Given the description of an element on the screen output the (x, y) to click on. 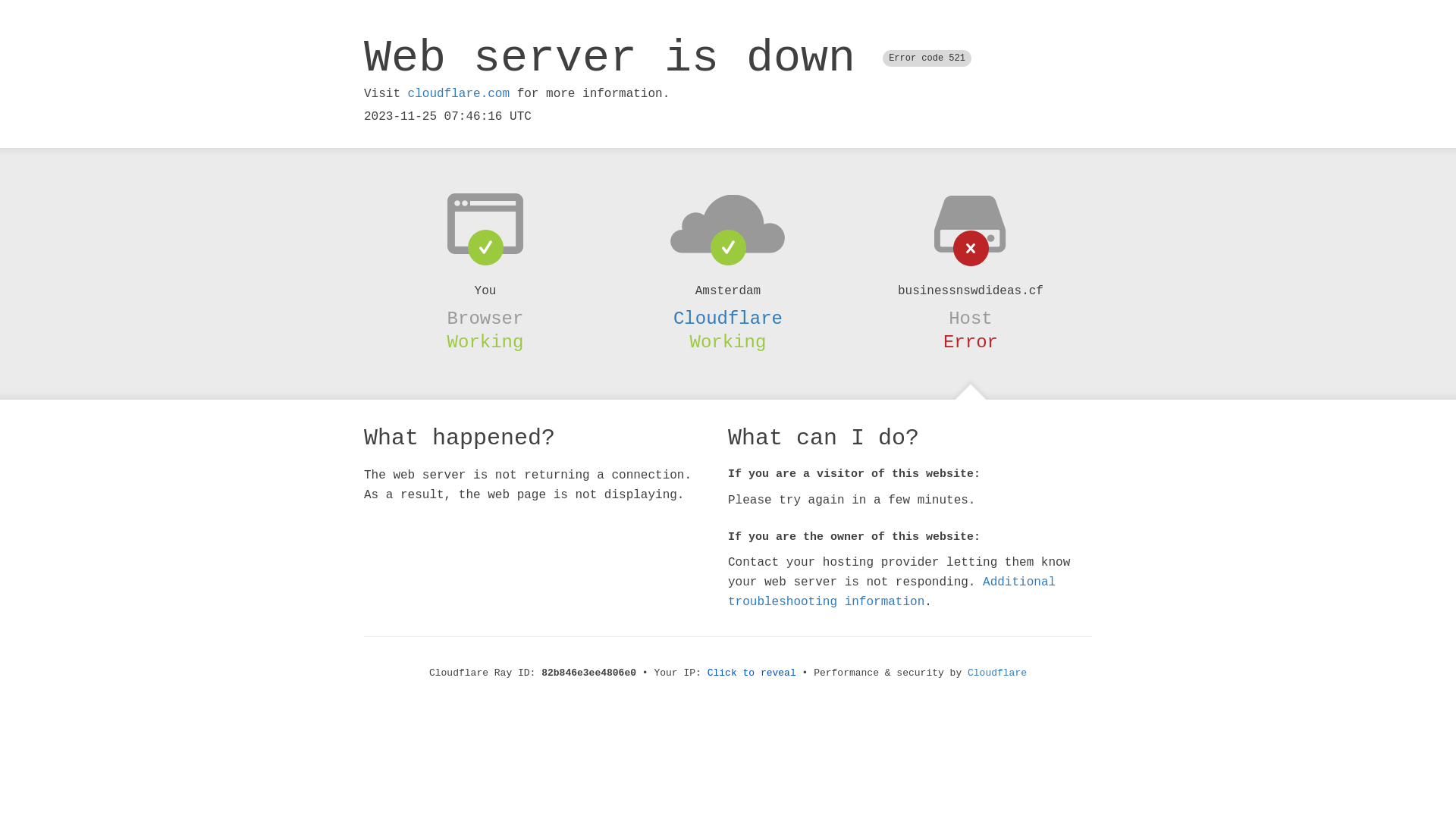
Cloudflare Element type: text (727, 318)
Click to reveal Element type: text (751, 672)
Additional troubleshooting information Element type: text (891, 591)
Cloudflare Element type: text (996, 672)
cloudflare.com Element type: text (458, 93)
